Given the description of an element on the screen output the (x, y) to click on. 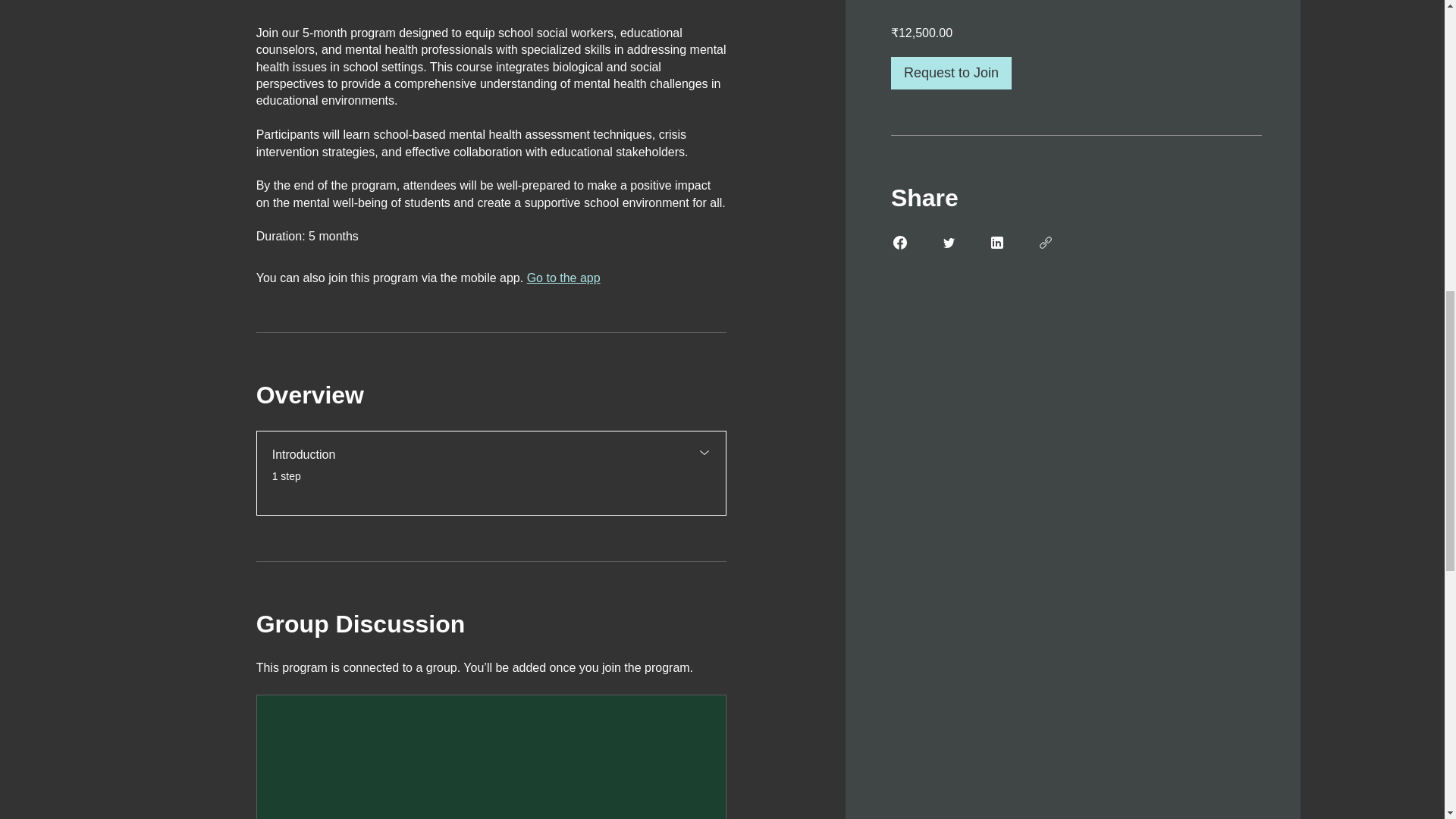
Go to the app (563, 277)
Request to Join (491, 465)
